Given the description of an element on the screen output the (x, y) to click on. 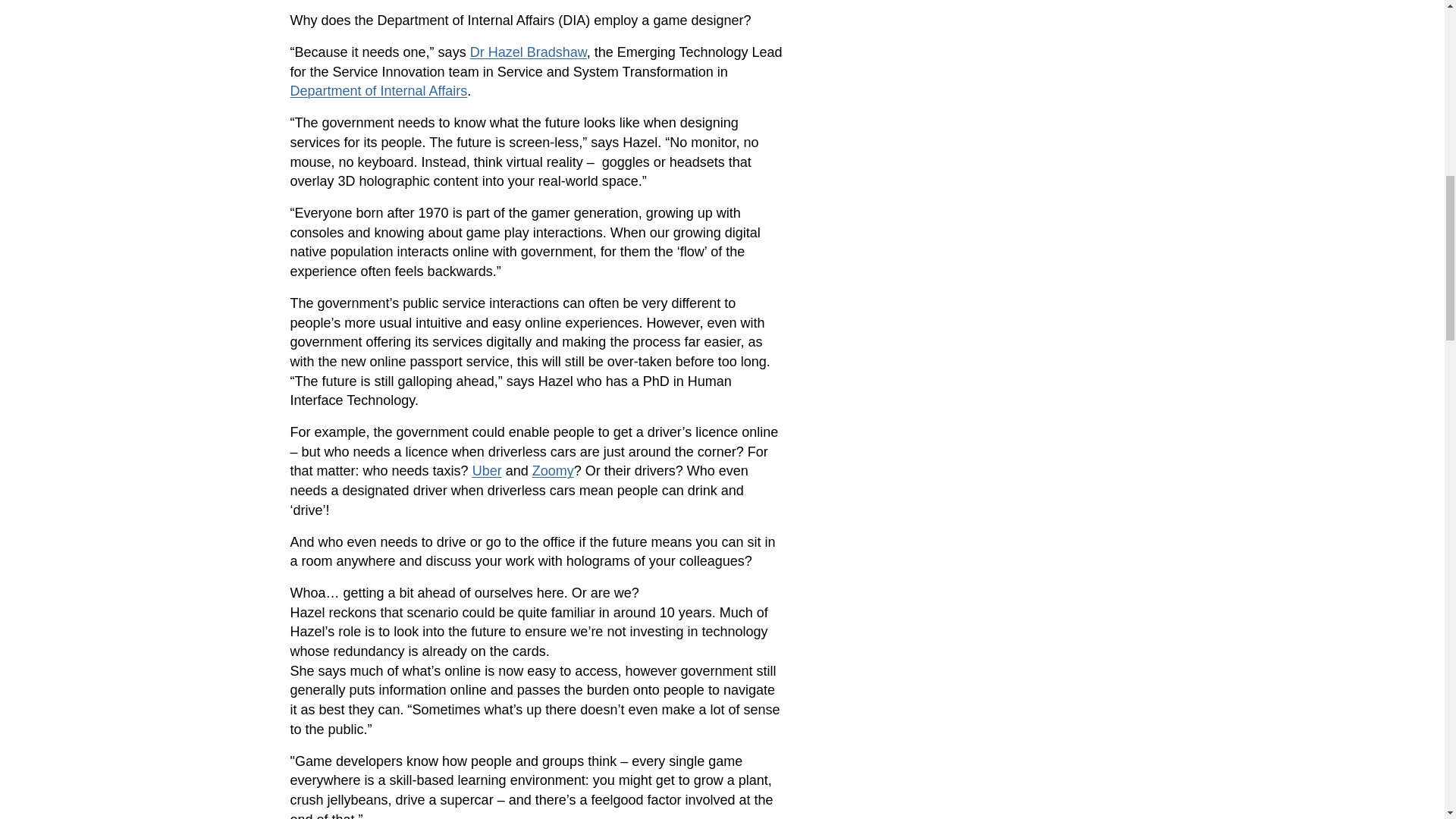
Zoomy (552, 470)
Go to Hazels' LinkedIn Profile (528, 52)
Department of Internal Affairs (378, 90)
Uber (486, 470)
Dr Hazel Bradshaw (528, 52)
